Given the description of an element on the screen output the (x, y) to click on. 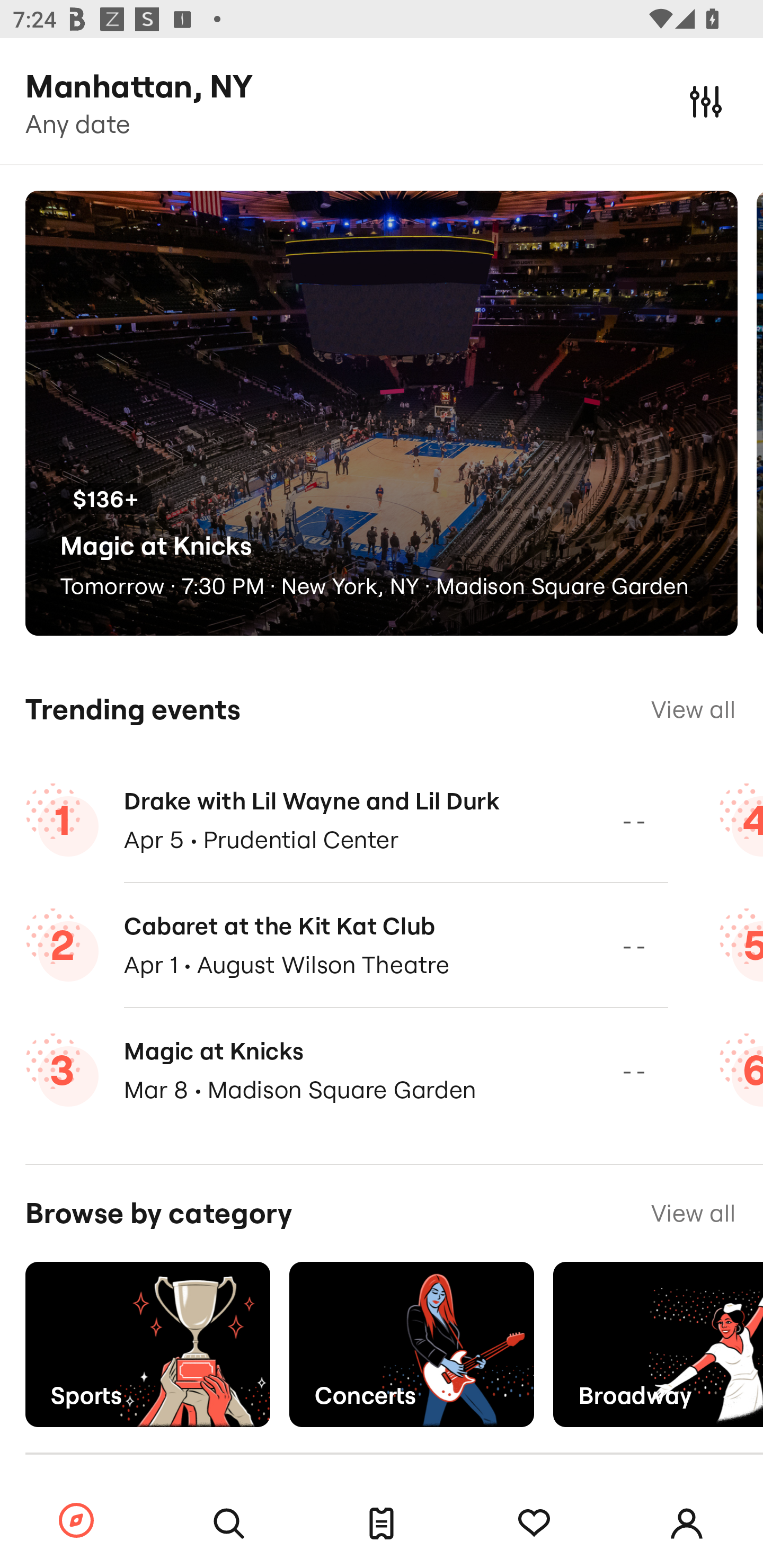
Filters (705, 100)
View all (693, 709)
View all (693, 1213)
Sports (147, 1344)
Concerts (411, 1344)
Broadway (658, 1344)
Browse (76, 1521)
Search (228, 1523)
Tickets (381, 1523)
Tracking (533, 1523)
Account (686, 1523)
